Given the description of an element on the screen output the (x, y) to click on. 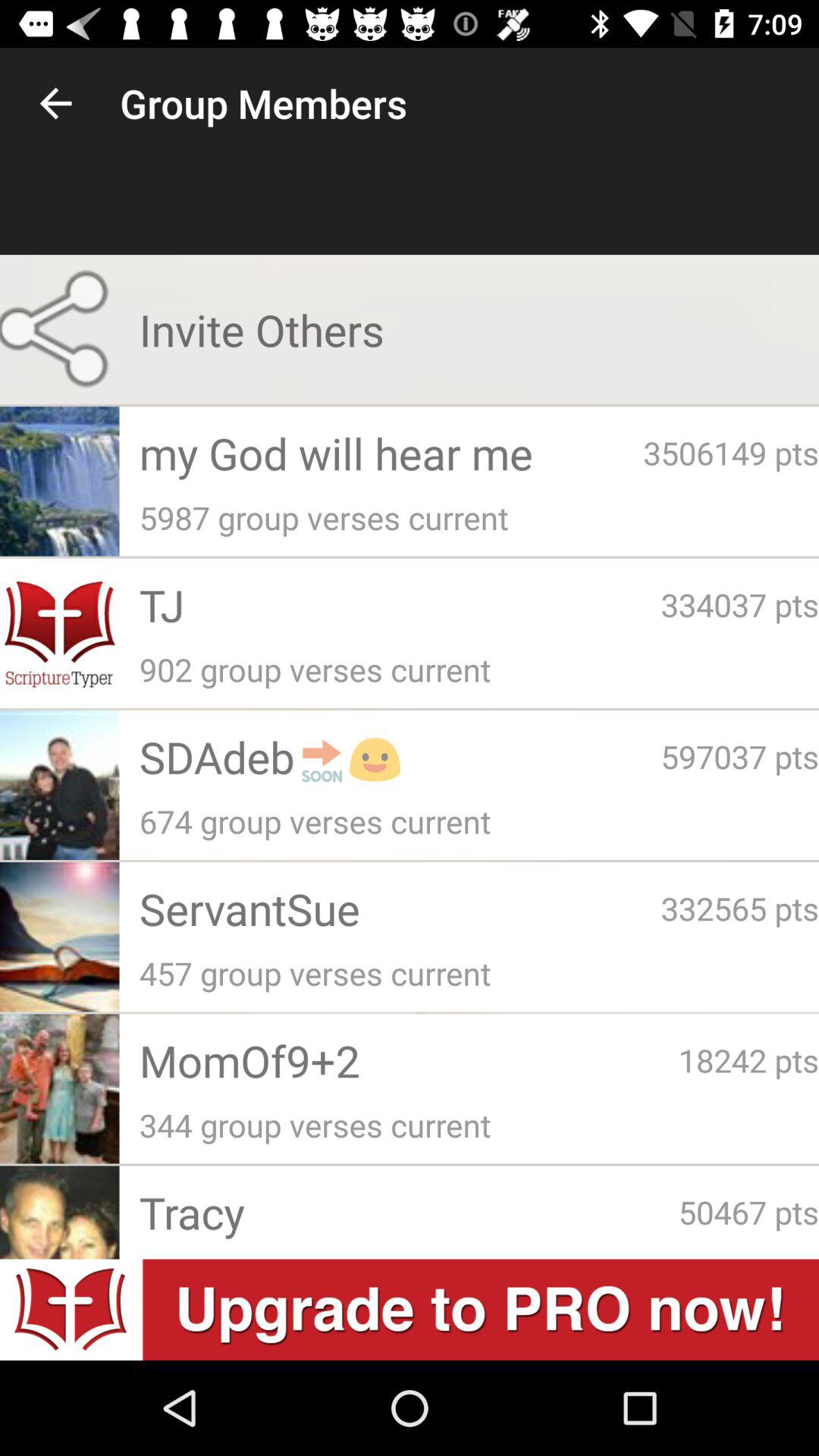
tap the icon next to the 18242 pts app (408, 1060)
